Given the description of an element on the screen output the (x, y) to click on. 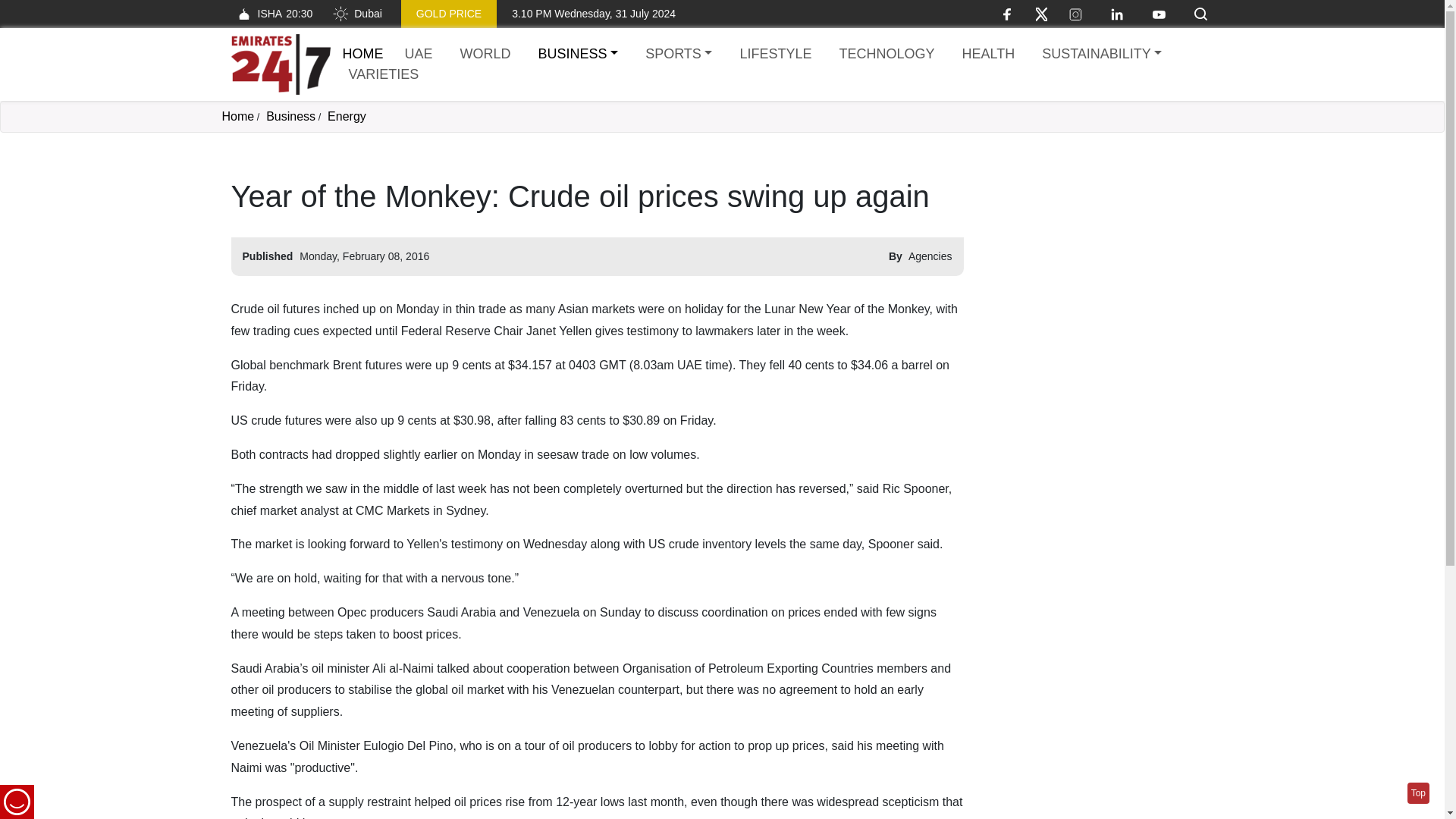
BUSINESS (578, 54)
UAE (418, 54)
HEALTH (987, 54)
Business (290, 115)
Dubai (271, 13)
VARIETIES (356, 13)
LIFESTYLE (383, 74)
TECHNOLOGY (774, 54)
SUSTAINABILITY (886, 54)
Go to top (1101, 54)
SPORTS (1418, 792)
GOLD PRICE (678, 54)
Home (448, 13)
Energy (237, 115)
